Given the description of an element on the screen output the (x, y) to click on. 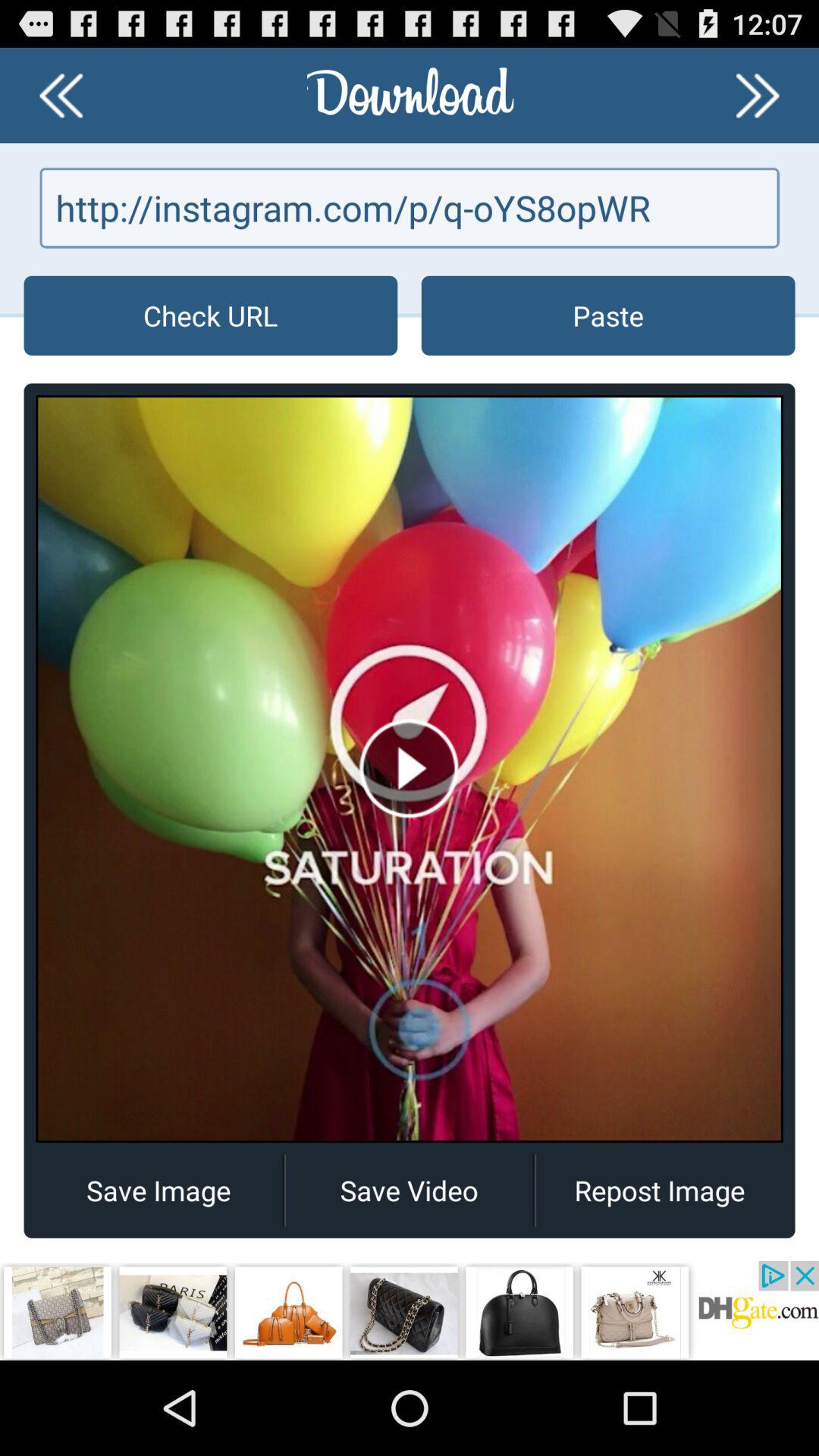
go to advertisement page (409, 1310)
